Given the description of an element on the screen output the (x, y) to click on. 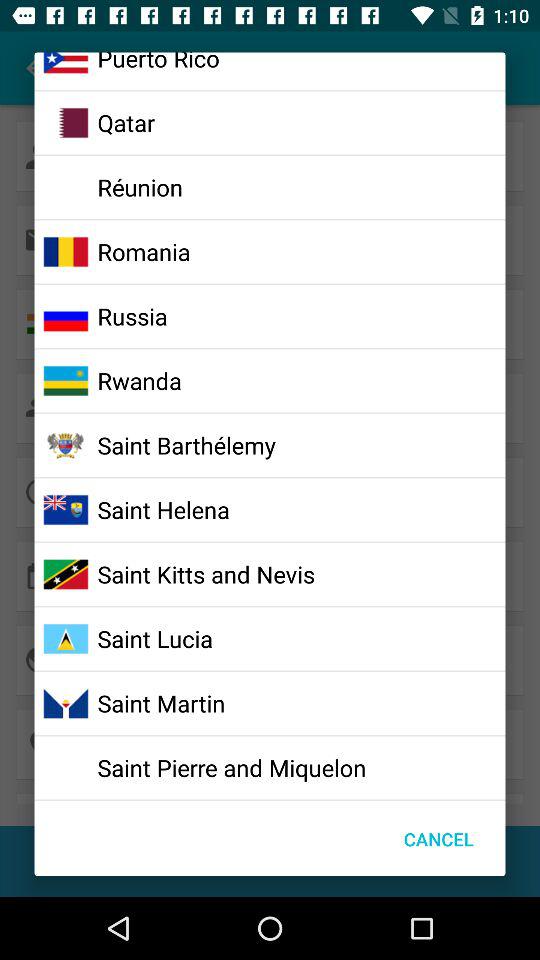
click icon below the saint lucia (161, 703)
